Given the description of an element on the screen output the (x, y) to click on. 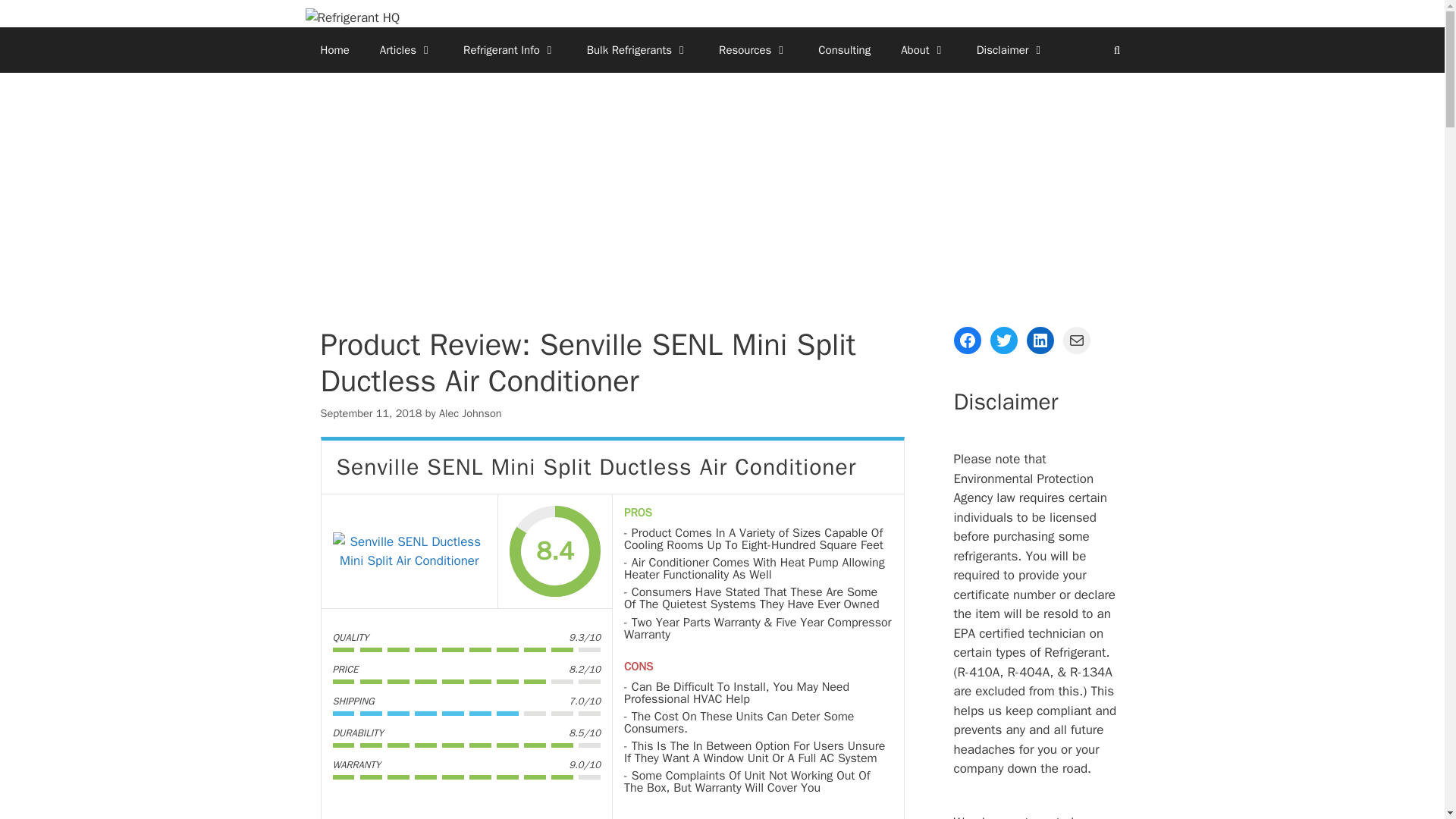
Senville SENL Mini Split Ductless Air Conditioner (408, 551)
View all posts by Alec Johnson (470, 413)
